Given the description of an element on the screen output the (x, y) to click on. 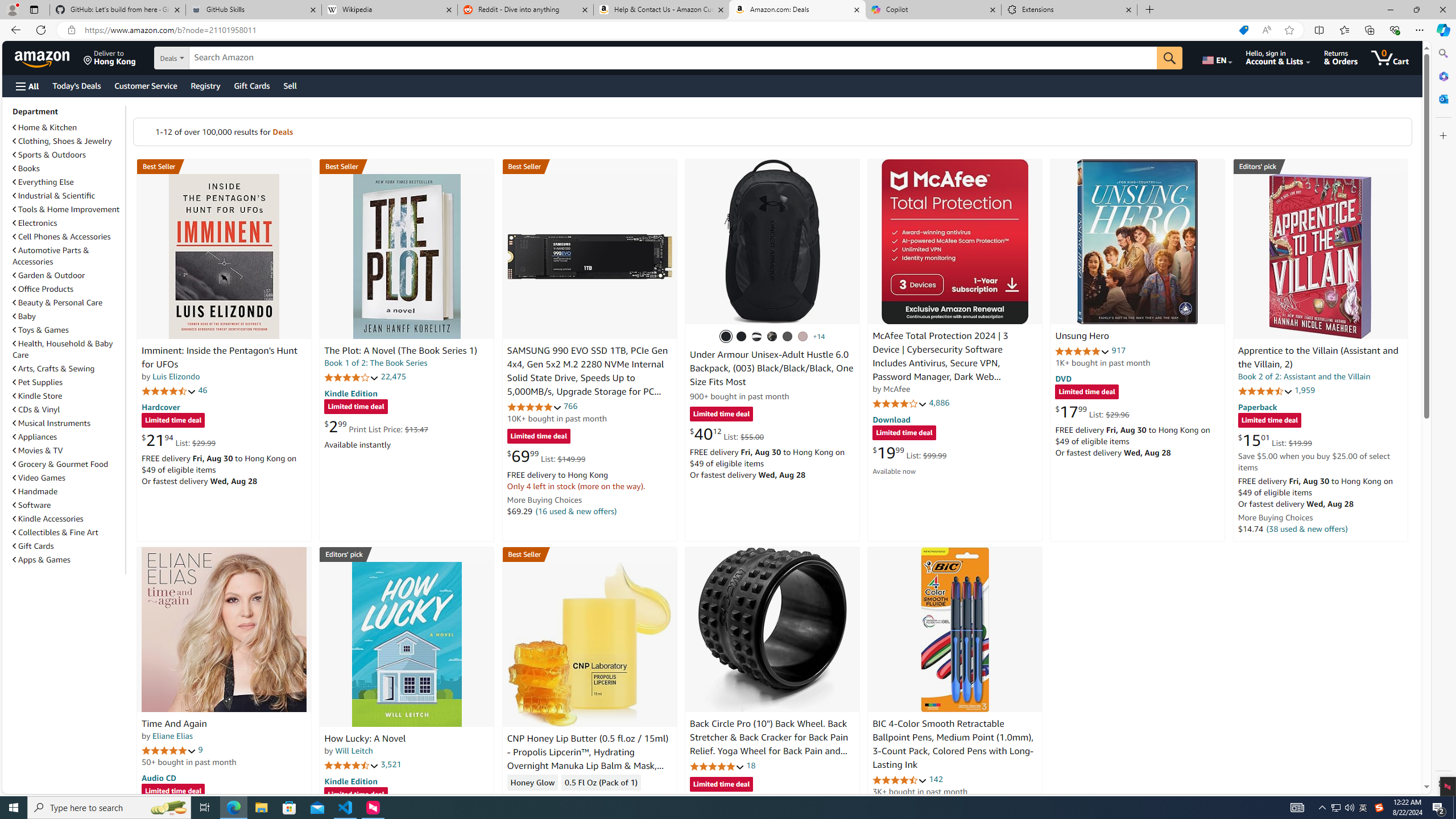
4.9 out of 5 stars (1082, 351)
917 (1117, 350)
CDs & Vinyl (36, 409)
Best Seller in Heist Thrillers (406, 165)
Paperback (1256, 406)
Registry (205, 85)
Imminent: Inside the Pentagon's Hunt for UFOs (219, 358)
$40.12 List: $55.00 (726, 433)
766 (570, 406)
